Given the description of an element on the screen output the (x, y) to click on. 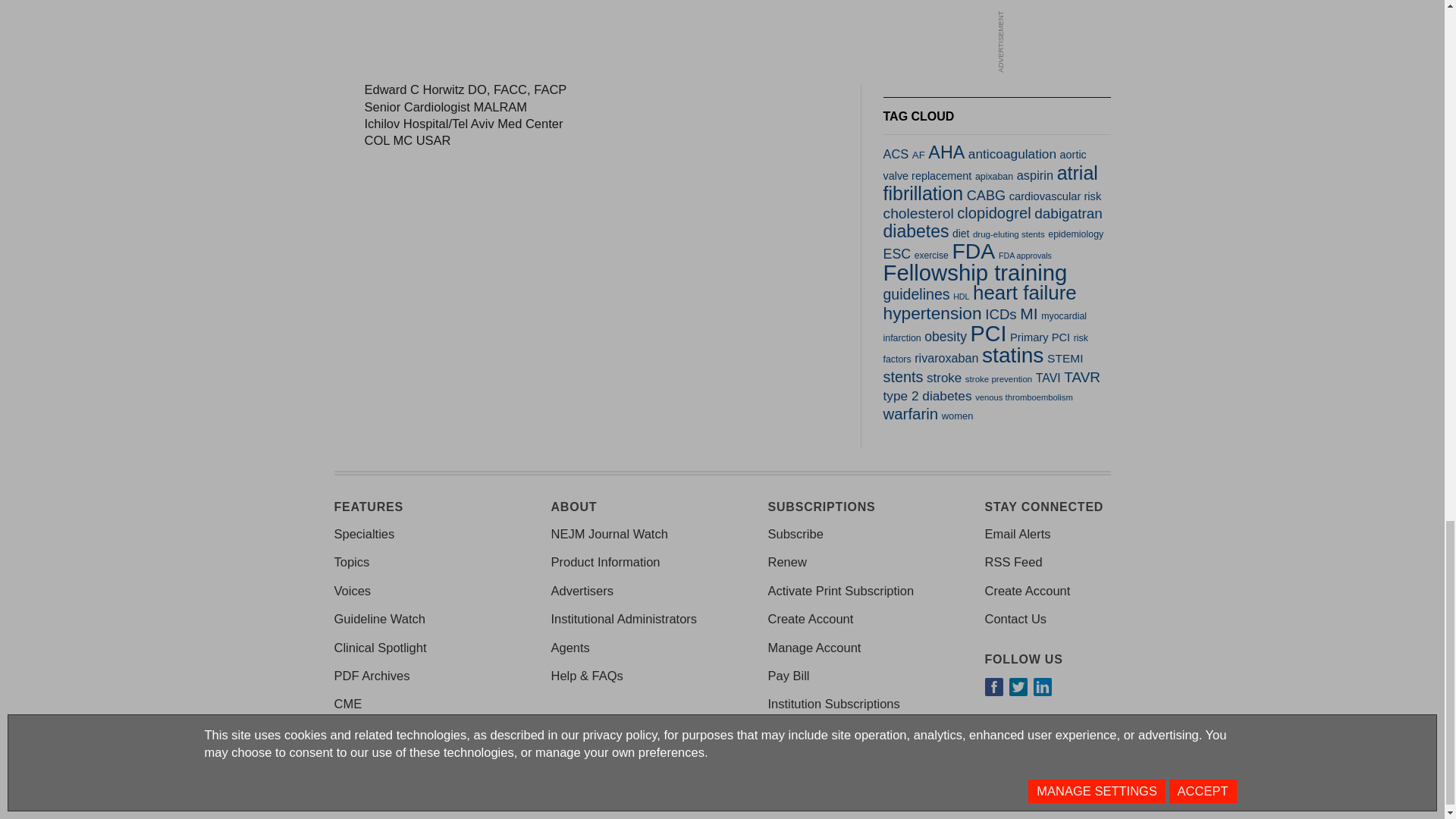
Follow NEJM Journal Watch on Twitter (1017, 687)
Follow NEJM Journal Watch on Facebook (993, 687)
Follow NEJM Journal Watch via linkedin (1041, 687)
